Given the description of an element on the screen output the (x, y) to click on. 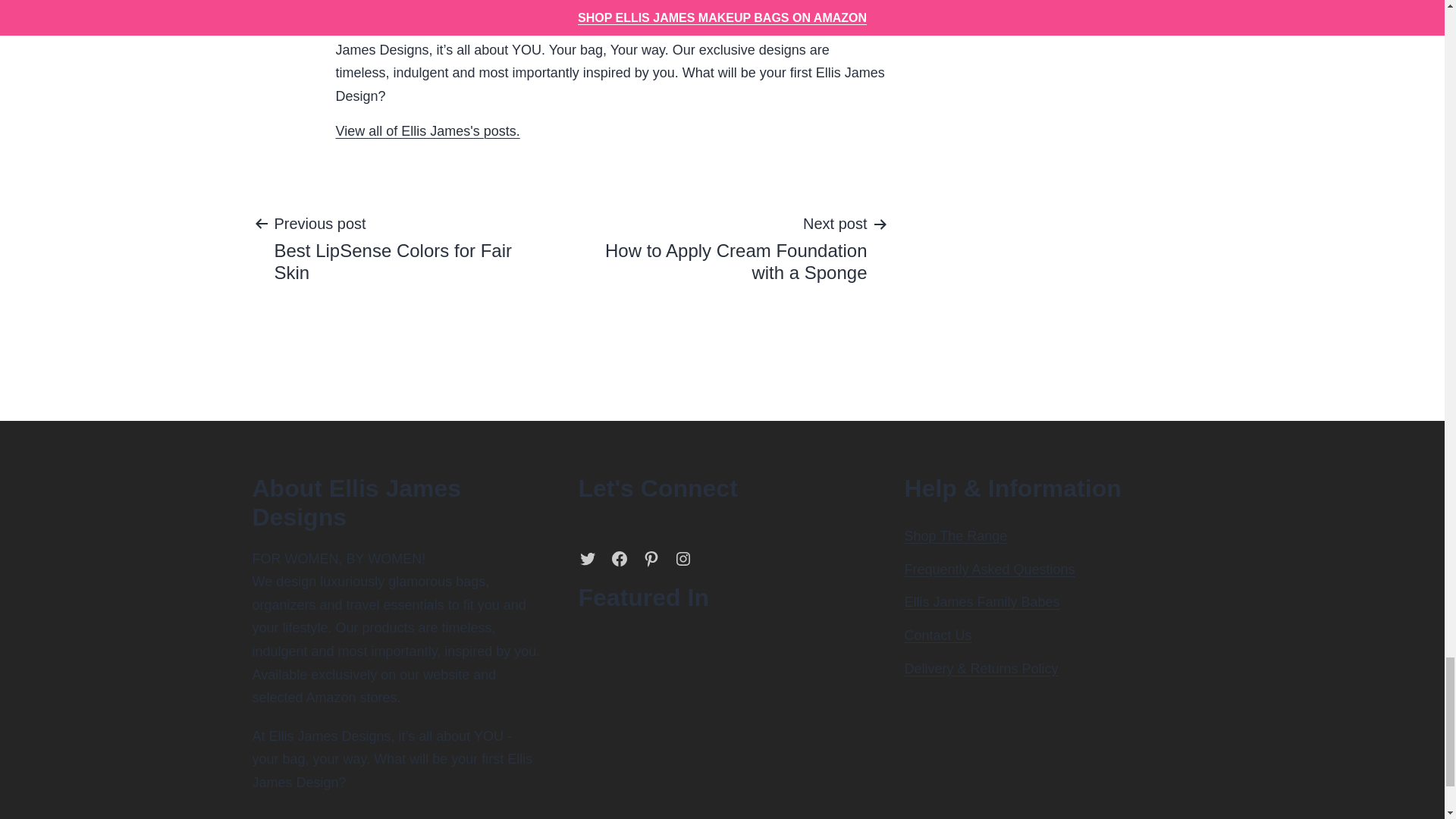
View all of Ellis James's posts. (426, 130)
